Given the description of an element on the screen output the (x, y) to click on. 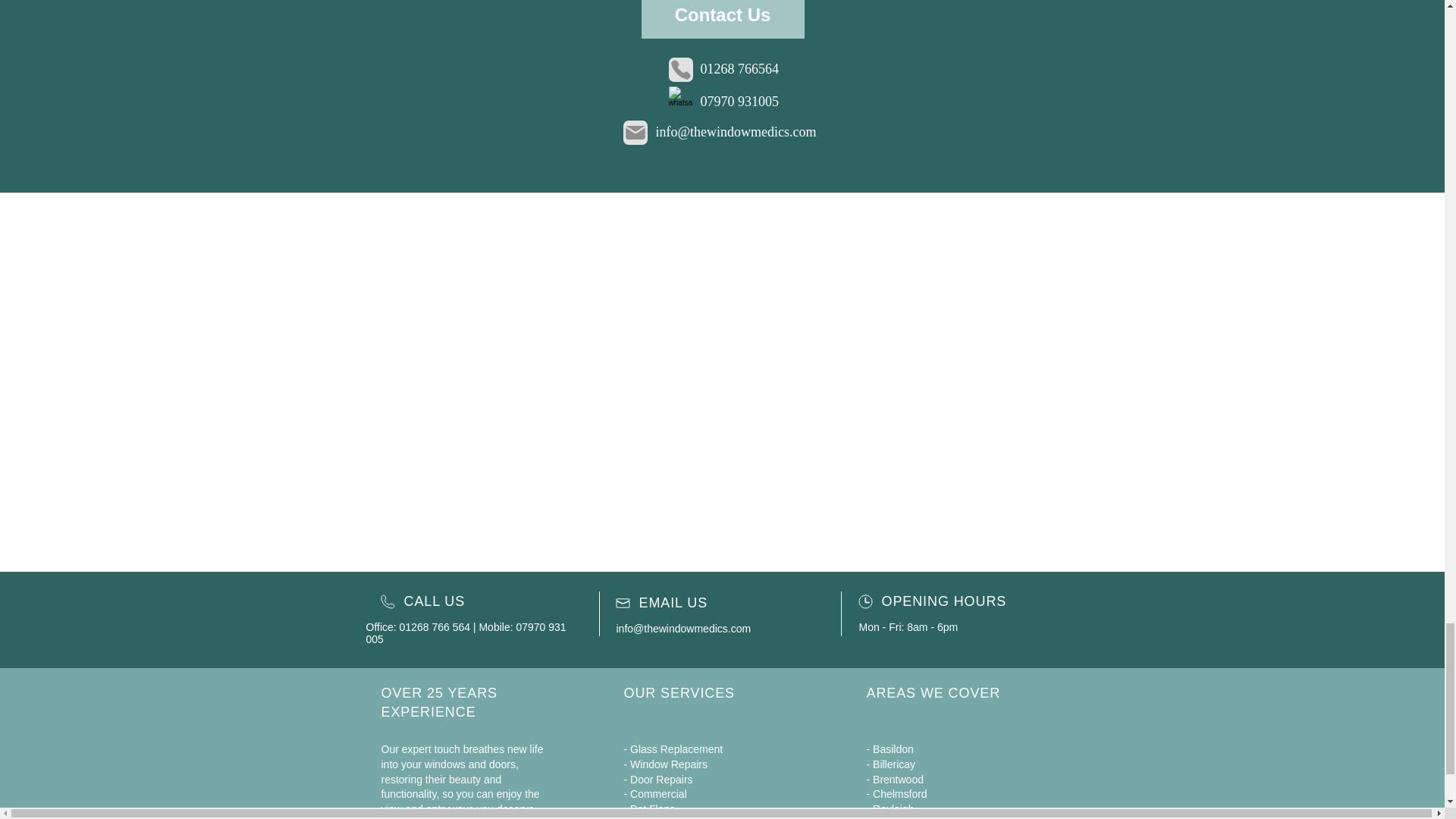
Contact Us (723, 19)
01268 766564 (739, 68)
